Given the description of an element on the screen output the (x, y) to click on. 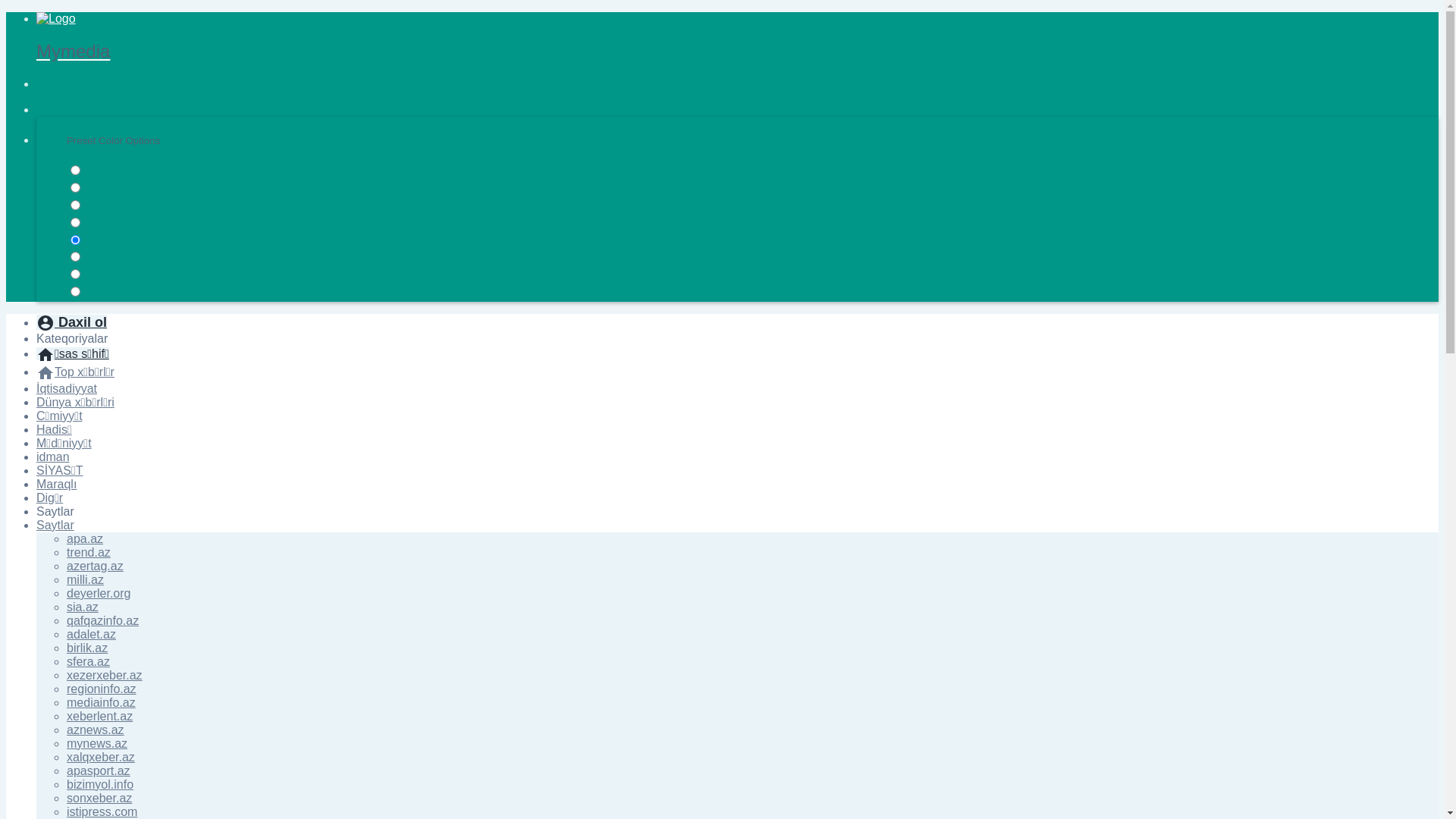
sia.az Element type: text (82, 606)
account_circle
Daxil ol Element type: text (71, 321)
mediainfo.az Element type: text (100, 702)
aznews.az Element type: text (95, 729)
xezerxeber.az Element type: text (104, 674)
bizimyol.info Element type: text (99, 784)
regioninfo.az Element type: text (101, 688)
trend.az Element type: text (88, 552)
xeberlent.az Element type: text (99, 715)
xalqxeber.az Element type: text (100, 756)
Mymedia Element type: text (737, 37)
birlik.az Element type: text (86, 647)
deyerler.org Element type: text (98, 592)
apasport.az Element type: text (98, 770)
idman Element type: text (52, 456)
qafqazinfo.az Element type: text (102, 620)
azertag.az Element type: text (94, 565)
sfera.az Element type: text (87, 661)
istipress.com Element type: text (101, 811)
apa.az Element type: text (84, 538)
Saytlar Element type: text (55, 524)
milli.az Element type: text (84, 579)
sonxeber.az Element type: text (98, 797)
mynews.az Element type: text (96, 743)
adalet.az Element type: text (91, 633)
